Given the description of an element on the screen output the (x, y) to click on. 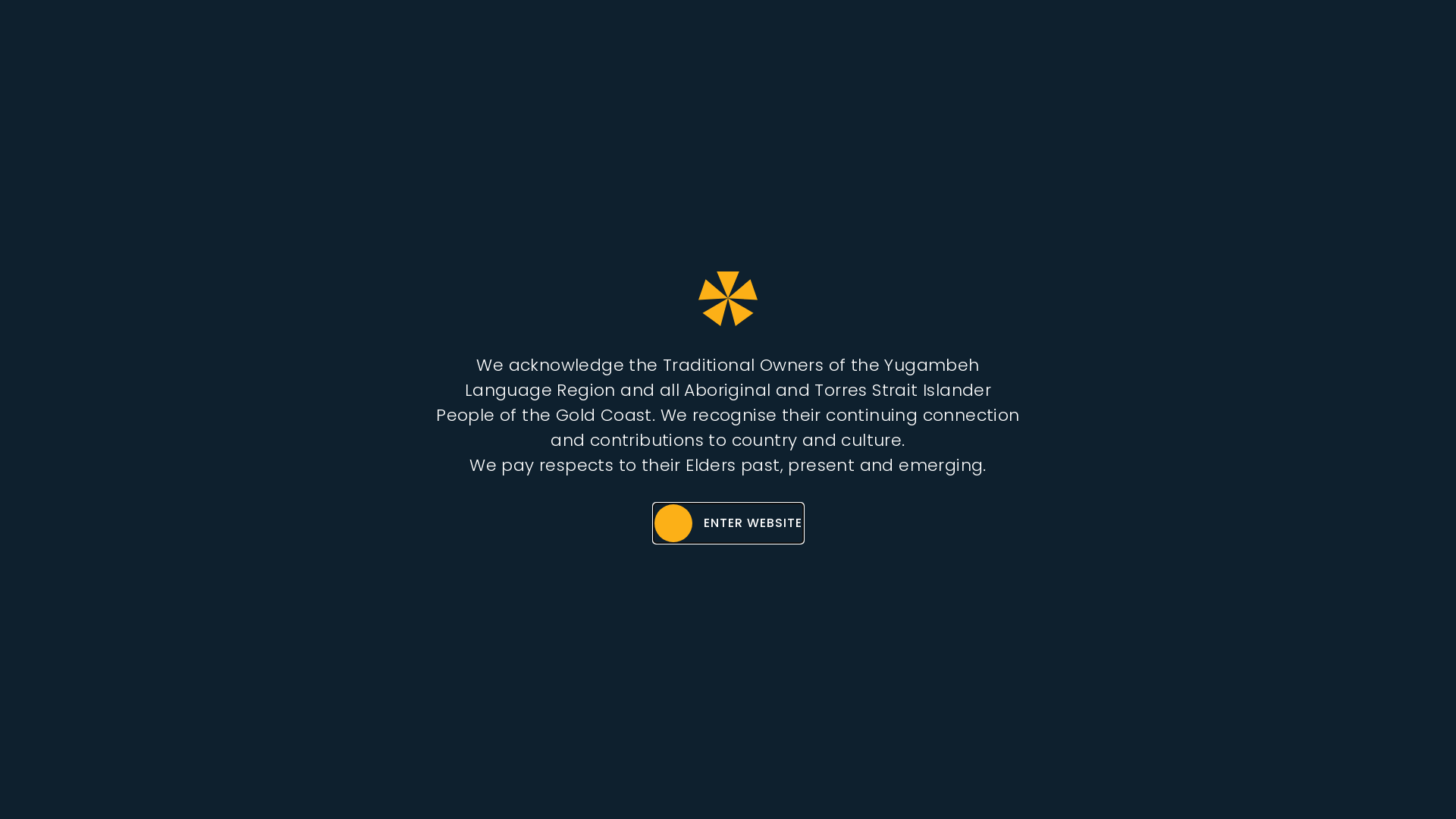
SIGN UP FOR E-NEWS Element type: text (1346, 42)
VIEW SHOWREEL Element type: text (635, 451)
Connected to place Element type: text (968, 44)
VIEW OUR PROJECTS Element type: text (836, 451)
ENTER WEBSITE Element type: text (727, 523)
Get in touch Element type: text (1153, 44)
Who we are Element type: text (784, 44)
